Given the description of an element on the screen output the (x, y) to click on. 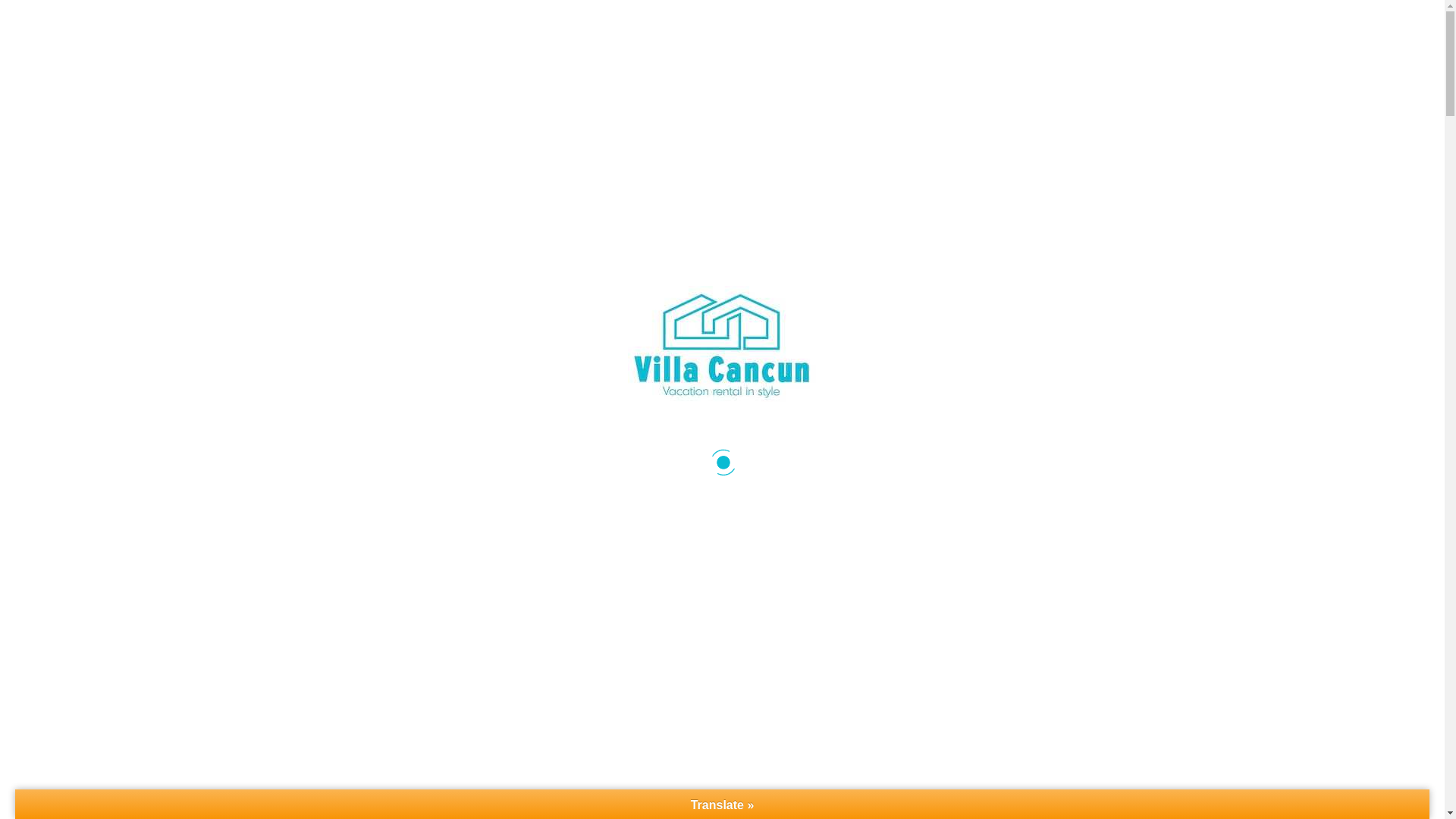
Cancun Luxury Rentals (723, 61)
NIGHTLIFE (829, 60)
DINING (627, 60)
YACHTS (549, 60)
NIGHTLIFE (829, 60)
Vacation Rental in Style (723, 61)
DINING (627, 60)
BACHELOR PARTIES (945, 60)
YACHTS (549, 60)
CANCUN (468, 60)
BACHELOR PARTIES (945, 60)
CANCUN (468, 60)
